Given the description of an element on the screen output the (x, y) to click on. 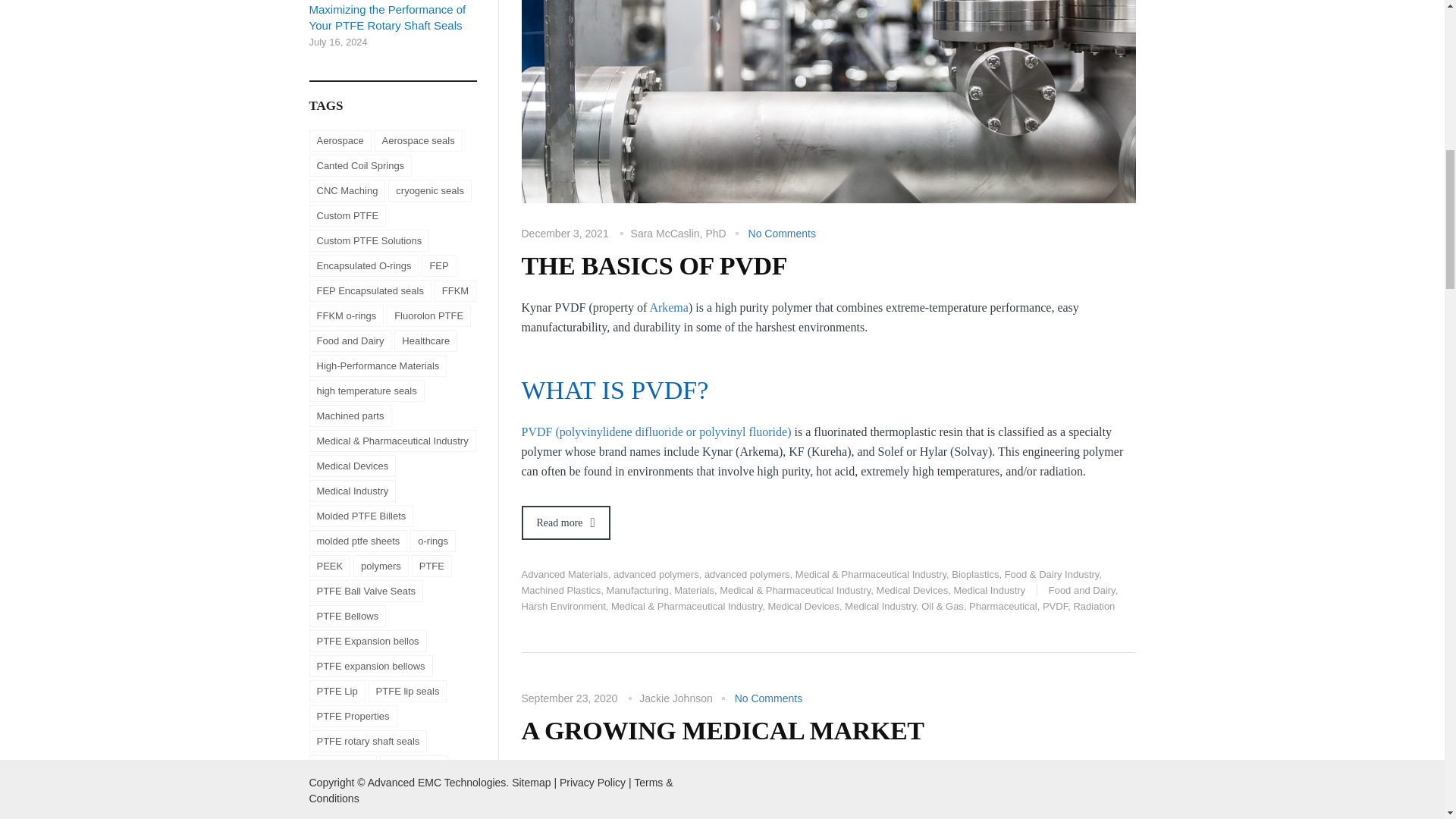
The Basics of PVDF (828, 9)
